Given the description of an element on the screen output the (x, y) to click on. 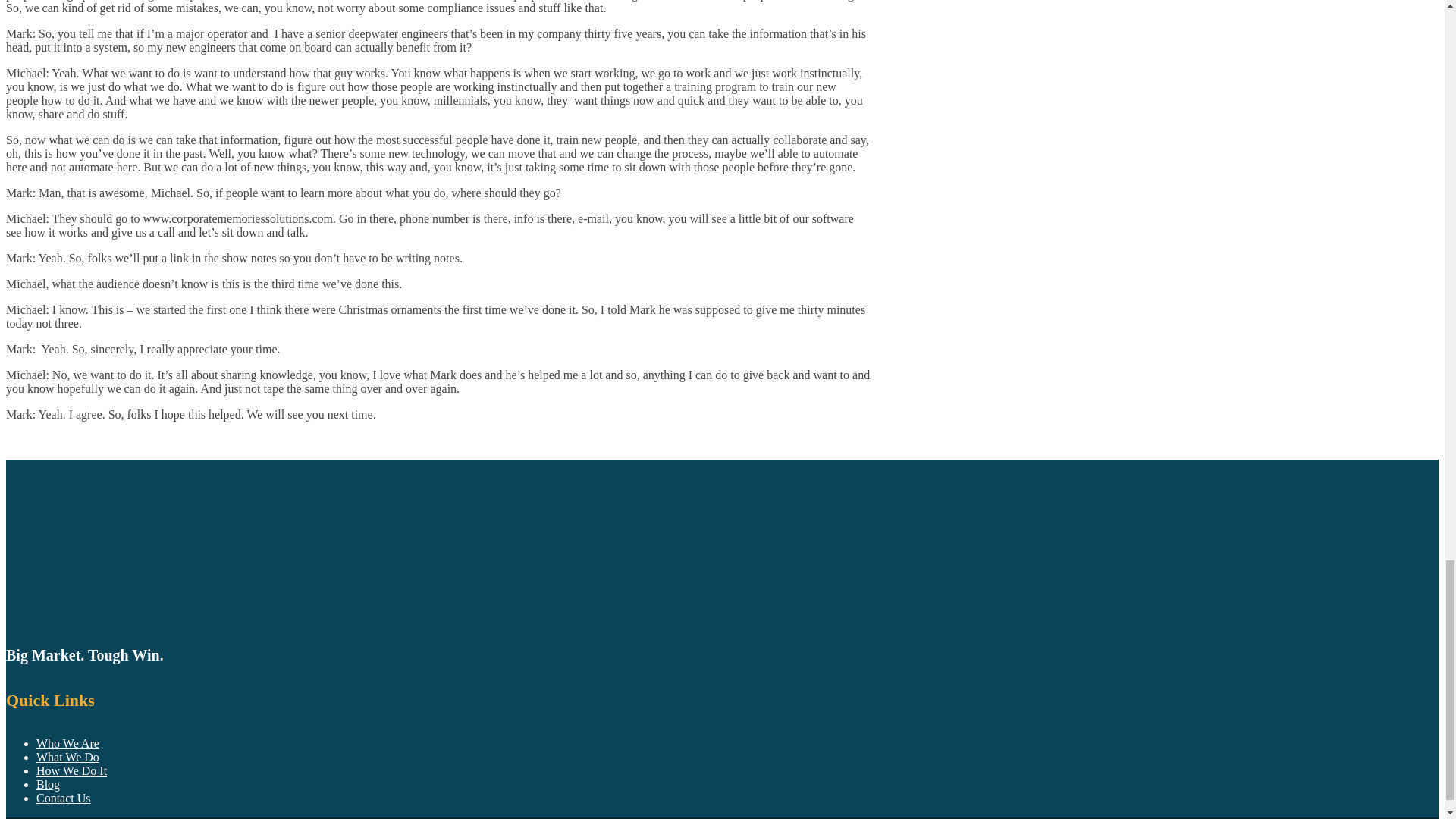
Blog (47, 784)
Who We Are (67, 743)
Contact Us (63, 797)
What We Do (67, 757)
How We Do It (71, 770)
